Given the description of an element on the screen output the (x, y) to click on. 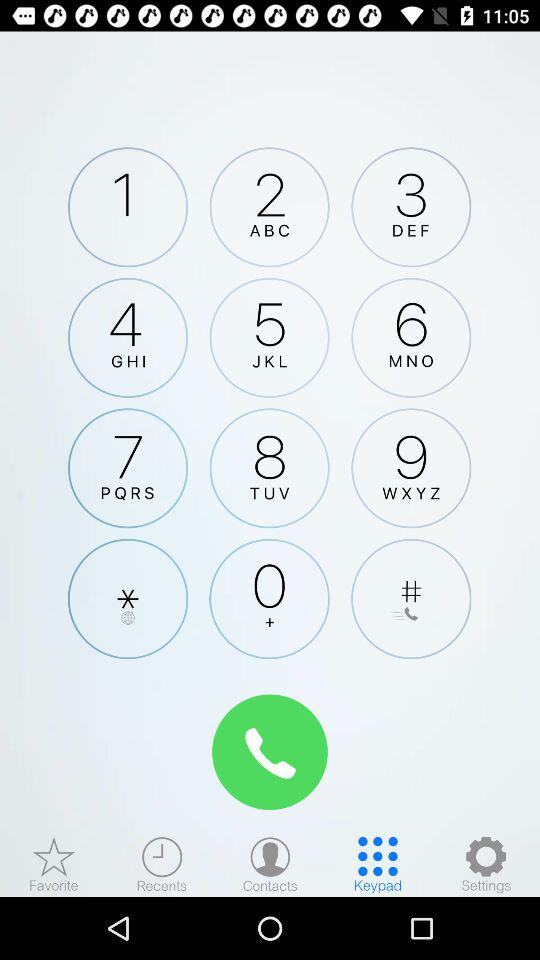
go to recent phone calls (161, 864)
